Given the description of an element on the screen output the (x, y) to click on. 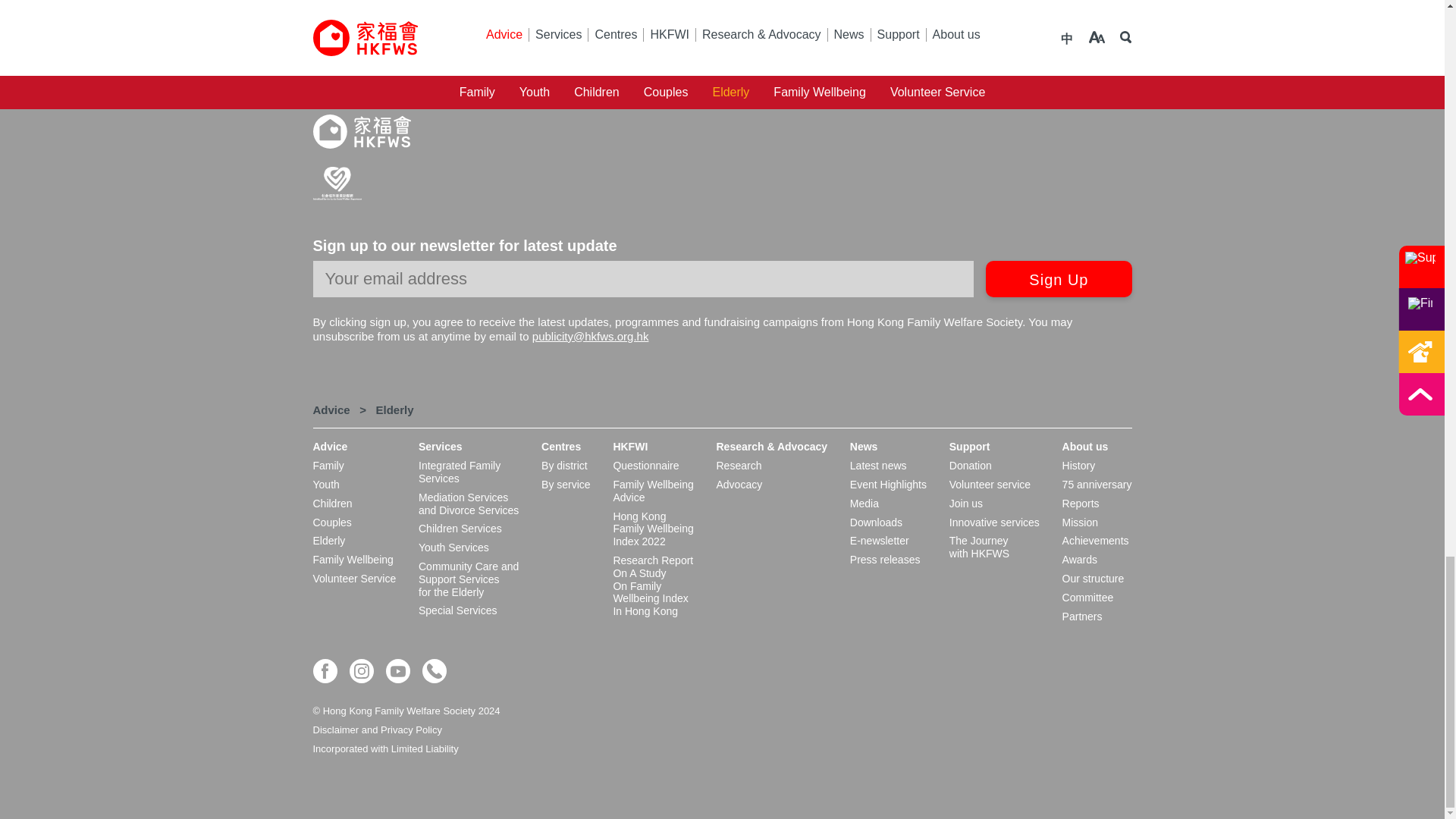
Elderly (394, 409)
Advice (331, 409)
